Given the description of an element on the screen output the (x, y) to click on. 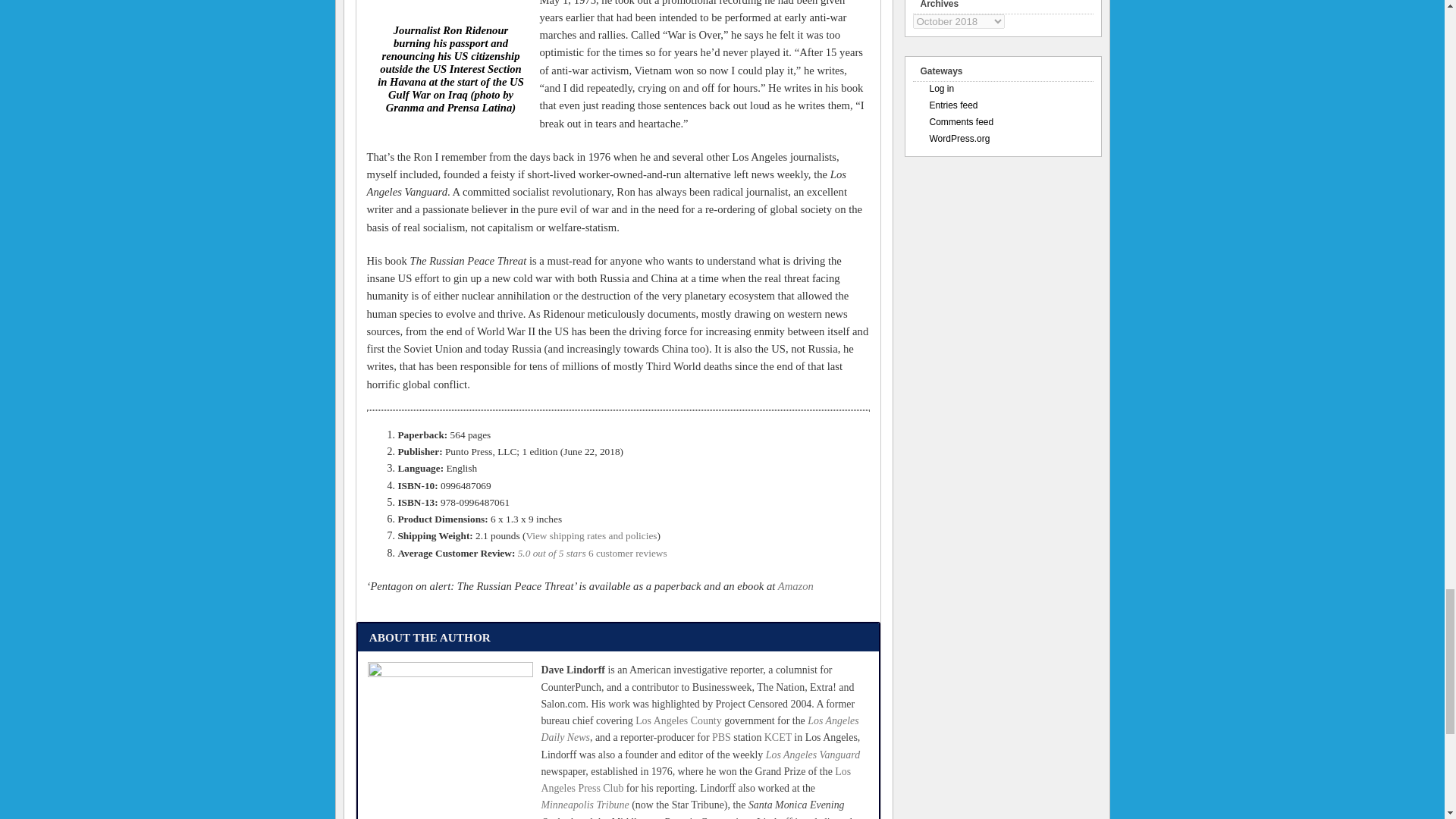
Los Angeles County (678, 720)
PBS (720, 737)
Los Angeles County (678, 720)
Amazon (795, 585)
KCET (778, 737)
KCET (778, 737)
Los Angeles Press Club (695, 779)
Los Angeles Vanguard (812, 754)
Los Angeles Daily News (699, 728)
View shipping rates and policies (590, 535)
Minneapolis Star Tribune (584, 804)
Minneapolis Tribune (584, 804)
6 customer reviews (627, 552)
5.0 out of 5 stars (553, 552)
PBS (720, 737)
